Given the description of an element on the screen output the (x, y) to click on. 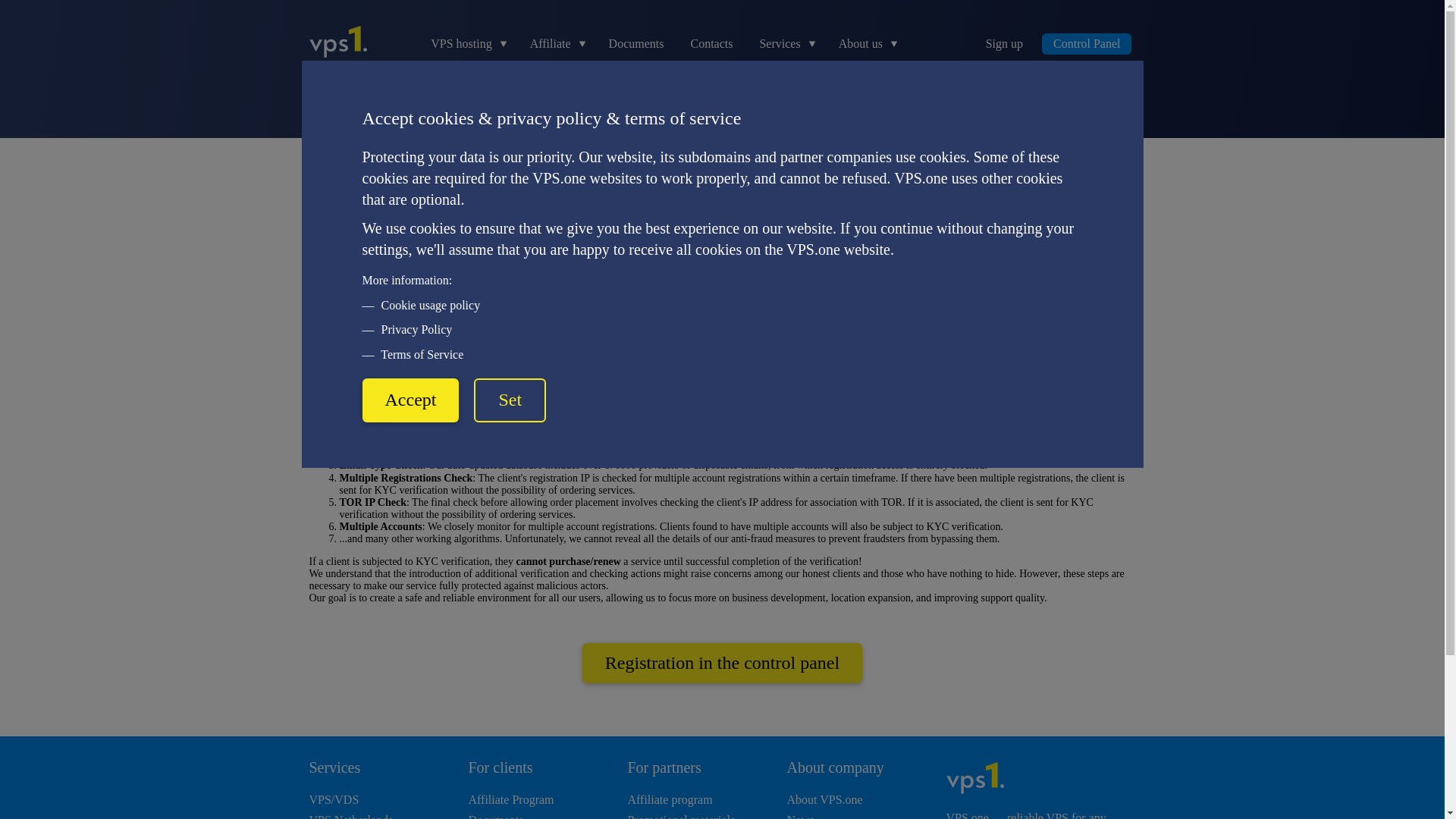
Documents (496, 816)
Terms of Service (1005, 284)
Cookie usage policy (438, 284)
Registration in the control panel (721, 662)
VPS.one (327, 167)
Documents (635, 43)
Control Panel (1086, 43)
VPS Netherlands (350, 816)
Contacts (711, 43)
Affiliate Program (511, 799)
